Given the description of an element on the screen output the (x, y) to click on. 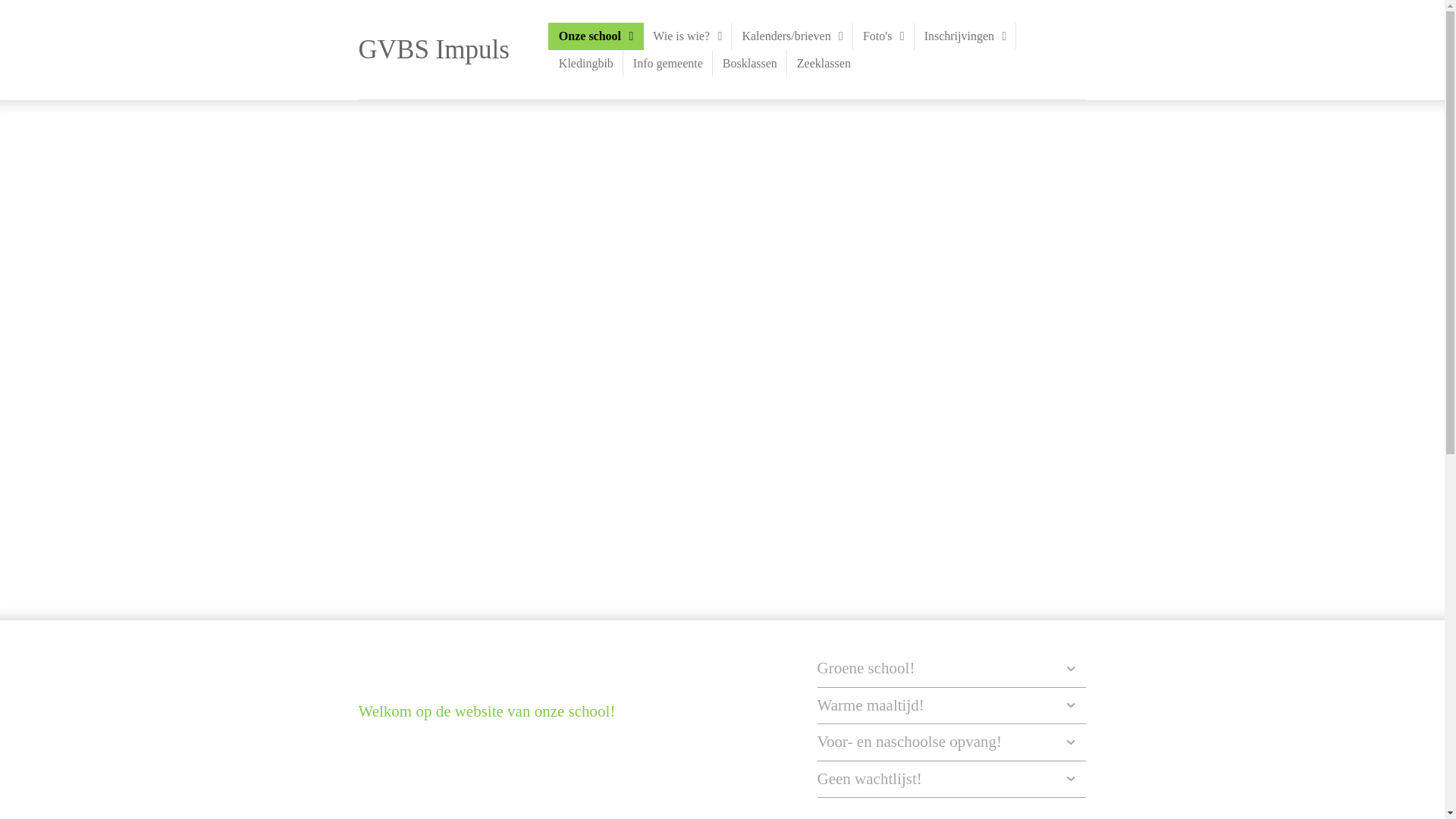
Kalenders/brieven Element type: text (792, 36)
Info gemeente Element type: text (667, 63)
Bosklassen Element type: text (749, 63)
Inschrijvingen Element type: text (965, 36)
Onze school Element type: text (596, 36)
Foto's Element type: text (883, 36)
Kledingbib Element type: text (586, 63)
Wie is wie? Element type: text (687, 36)
Zeeklassen Element type: text (823, 63)
